Given the description of an element on the screen output the (x, y) to click on. 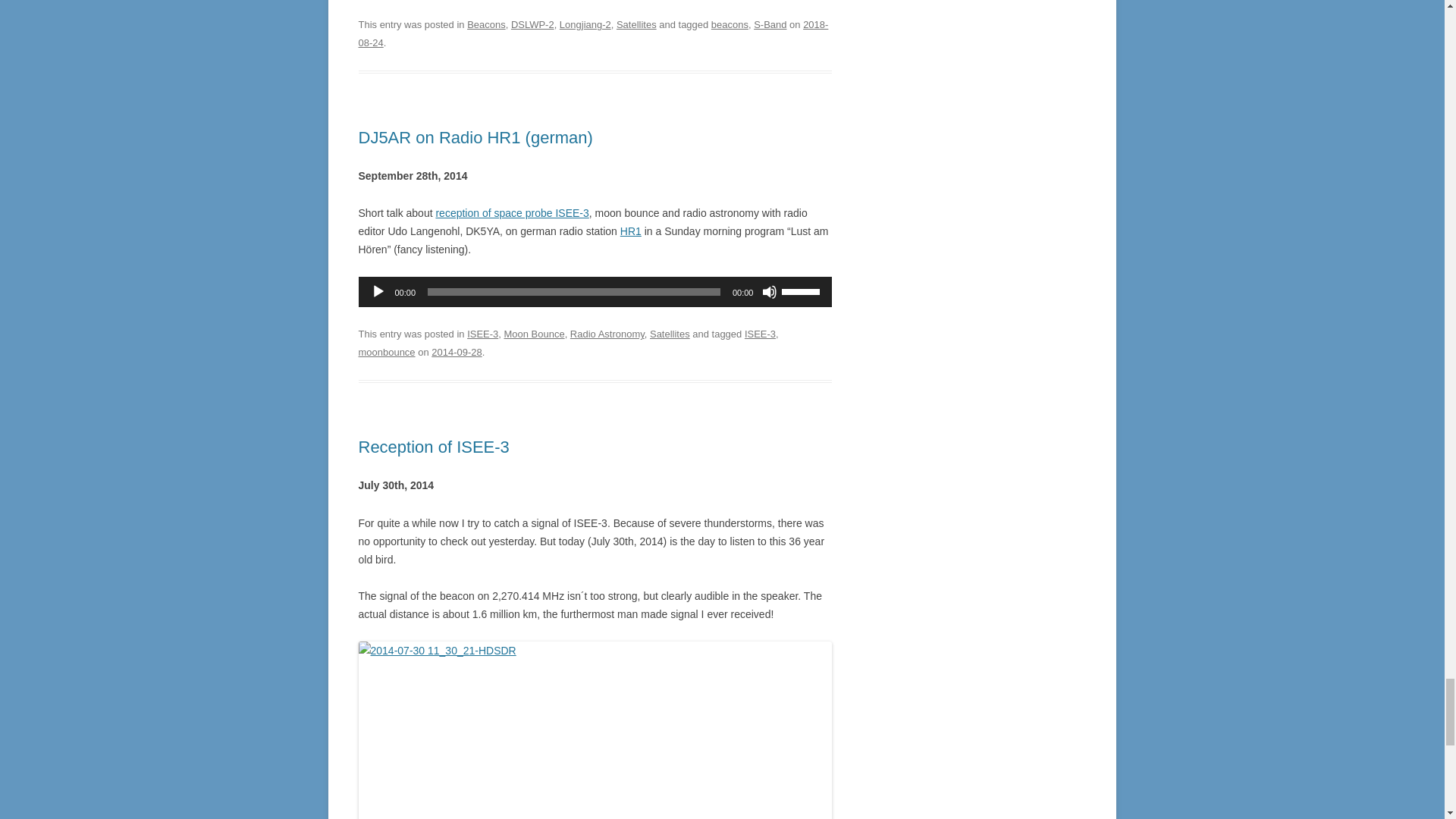
Mute (769, 291)
19:16 (455, 351)
05:42 (593, 33)
Play (377, 291)
